Given the description of an element on the screen output the (x, y) to click on. 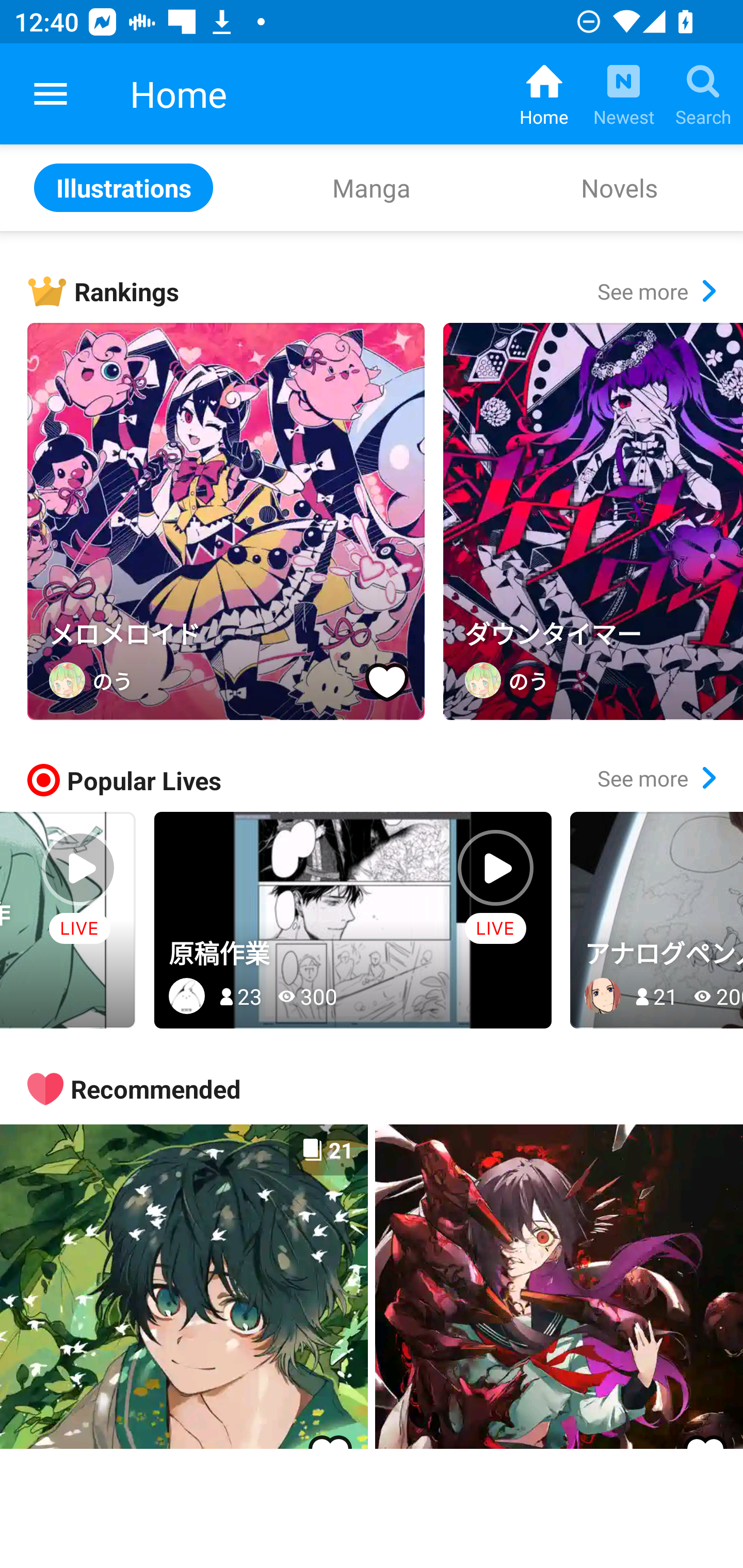
pixiv (50, 93)
Newest (623, 93)
Search (703, 93)
Illustrations (123, 187)
Manga (371, 187)
Novels (619, 187)
Rankings See more (385, 291)
See more (656, 778)
原稿作業 23 300 (352, 920)
21 (183, 1286)
